Given the description of an element on the screen output the (x, y) to click on. 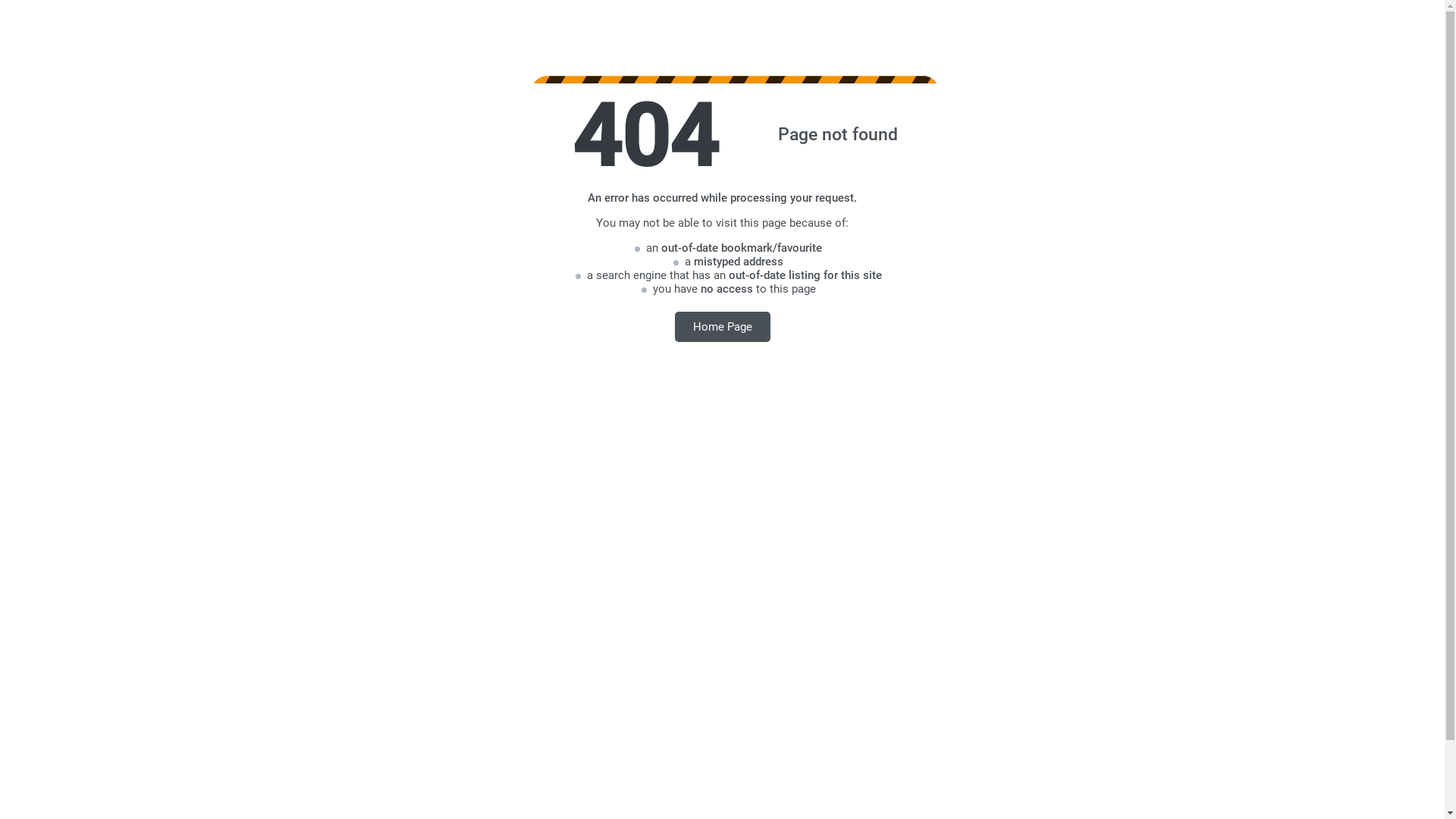
Home Page Element type: text (722, 326)
